Given the description of an element on the screen output the (x, y) to click on. 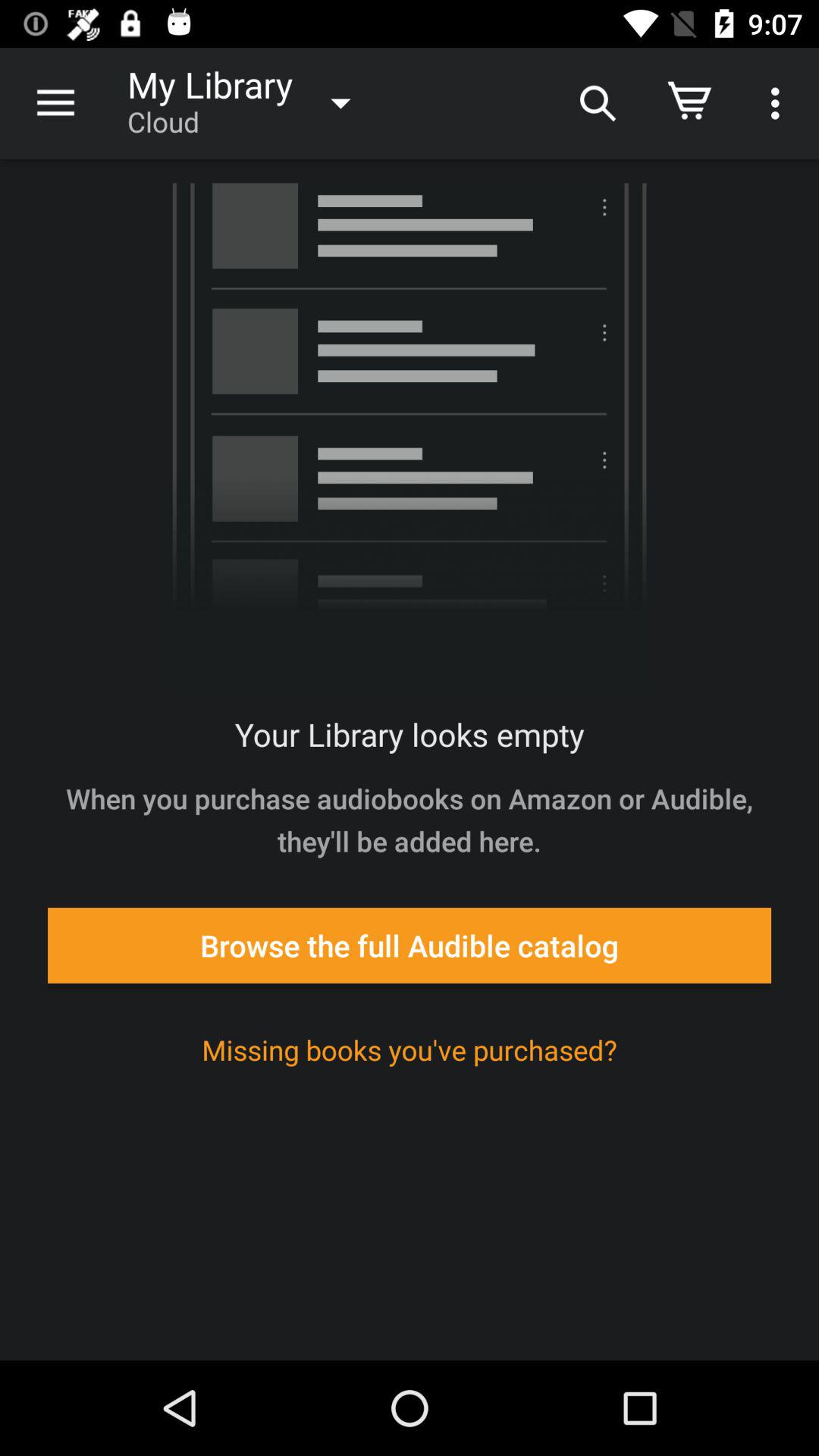
press the item next to my library item (55, 103)
